Given the description of an element on the screen output the (x, y) to click on. 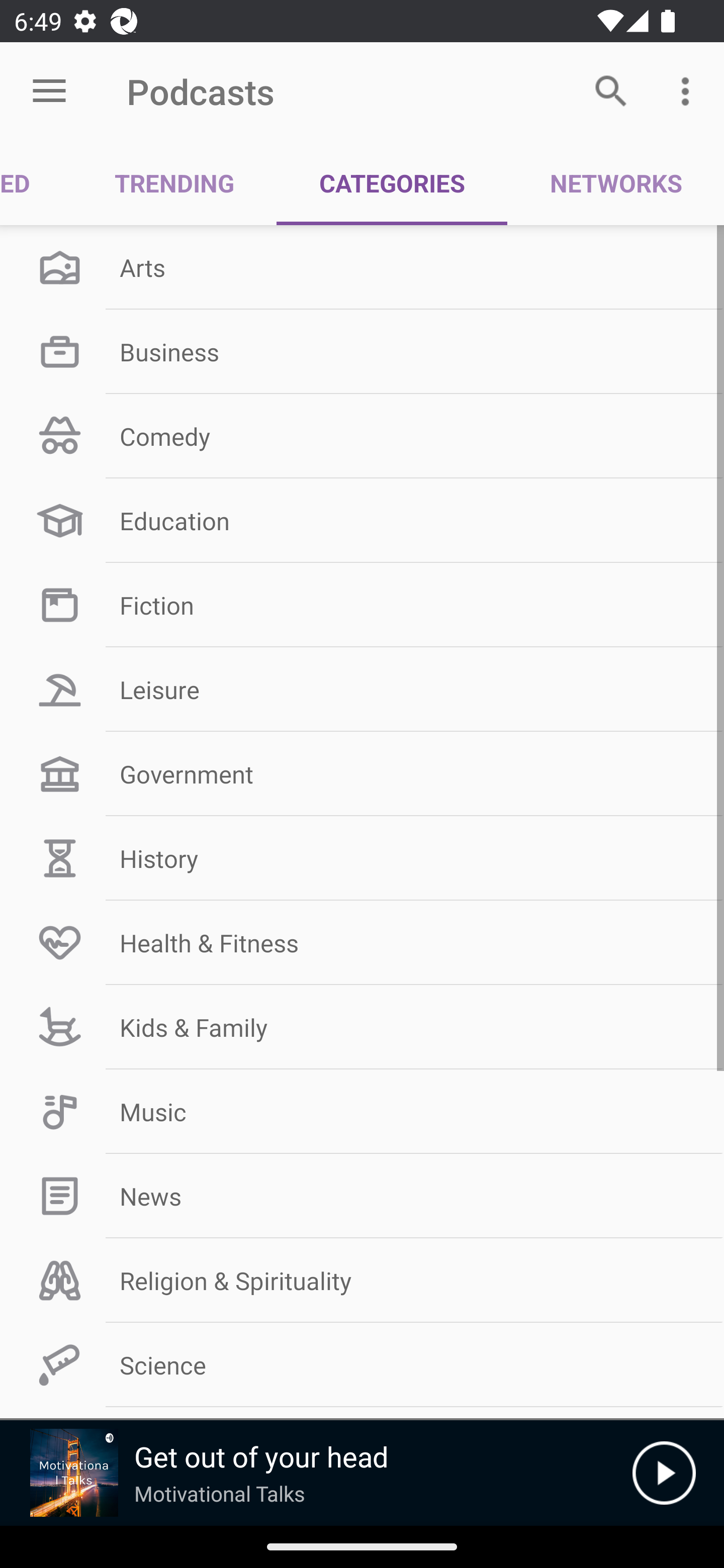
Open menu (49, 91)
Search (611, 90)
More options (688, 90)
TRENDING (174, 183)
CATEGORIES (391, 183)
NETWORKS (615, 183)
Arts (362, 266)
Business (362, 350)
Comedy (362, 435)
Education (362, 520)
Fiction (362, 604)
Leisure (362, 689)
Government (362, 774)
History (362, 858)
Health & Fitness (362, 942)
Kids & Family (362, 1026)
Music (362, 1111)
News (362, 1196)
Religion & Spirituality (362, 1280)
Science (362, 1364)
Picture Get out of your head Motivational Talks (316, 1472)
Play (663, 1472)
